Given the description of an element on the screen output the (x, y) to click on. 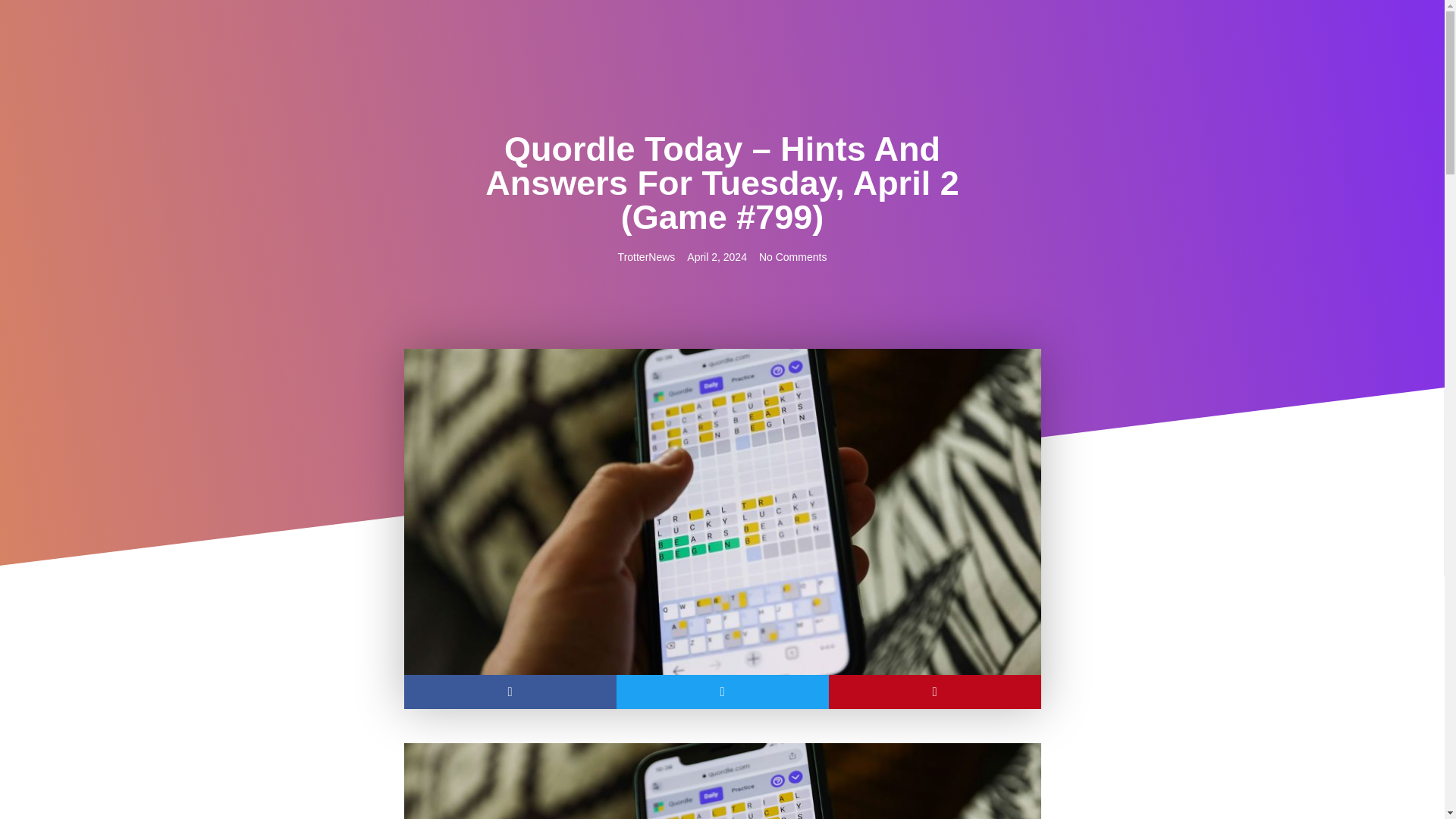
No Comments (792, 257)
April 2, 2024 (716, 257)
TrotterNews (646, 257)
